Given the description of an element on the screen output the (x, y) to click on. 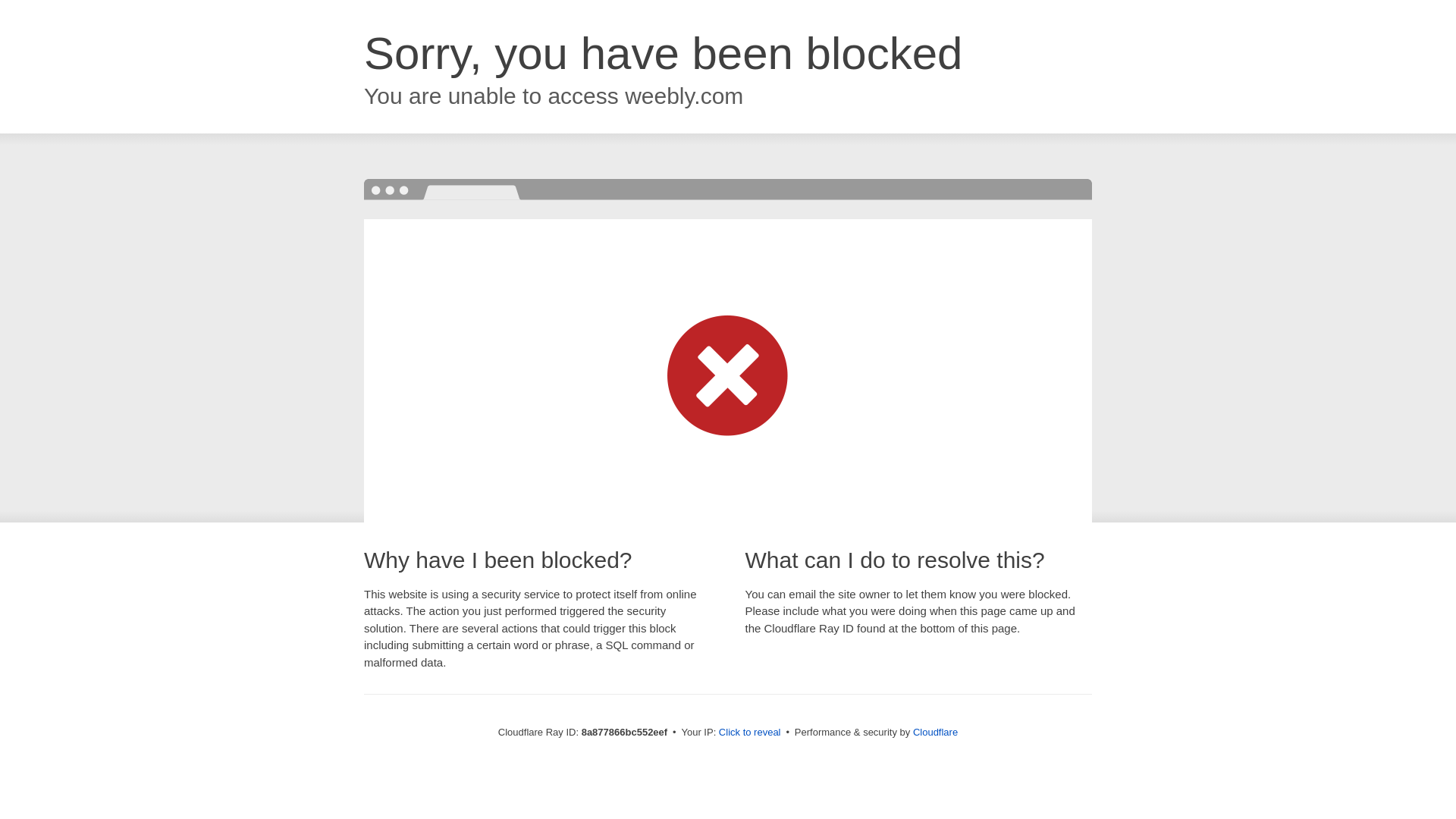
Cloudflare (935, 731)
Click to reveal (749, 732)
